Given the description of an element on the screen output the (x, y) to click on. 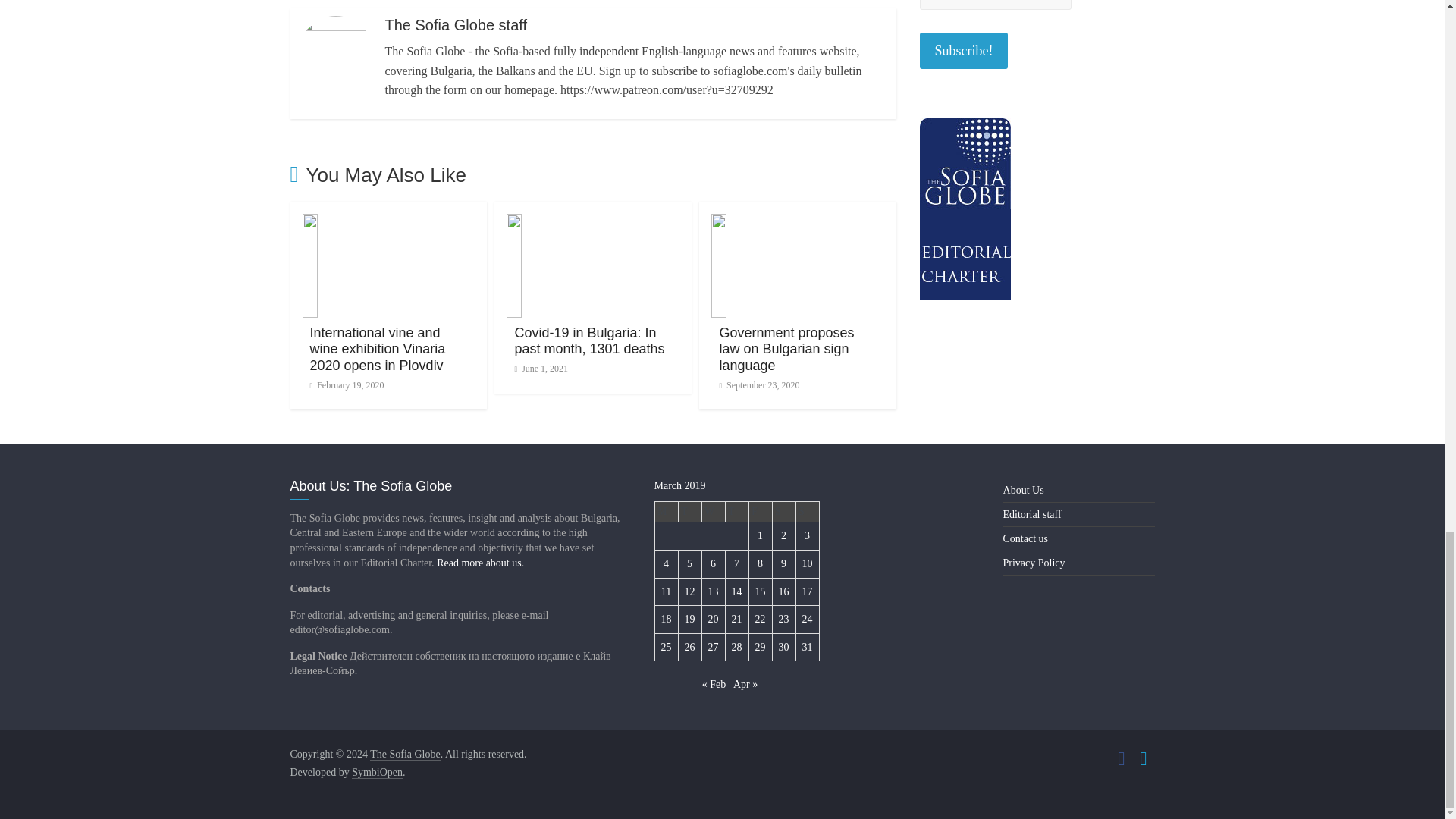
10:26 AM (346, 385)
September 23, 2020 (759, 385)
Covid-19 in Bulgaria: In past month, 1301 deaths (588, 341)
Government proposes law on Bulgarian sign language (797, 223)
12:38 PM (540, 368)
Subscribe! (962, 50)
Government proposes law on Bulgarian sign language (786, 349)
Covid-19 in Bulgaria: In past month, 1301 deaths (592, 223)
June 1, 2021 (540, 368)
February 19, 2020 (346, 385)
Covid-19 in Bulgaria: In past month, 1301 deaths (588, 341)
